Given the description of an element on the screen output the (x, y) to click on. 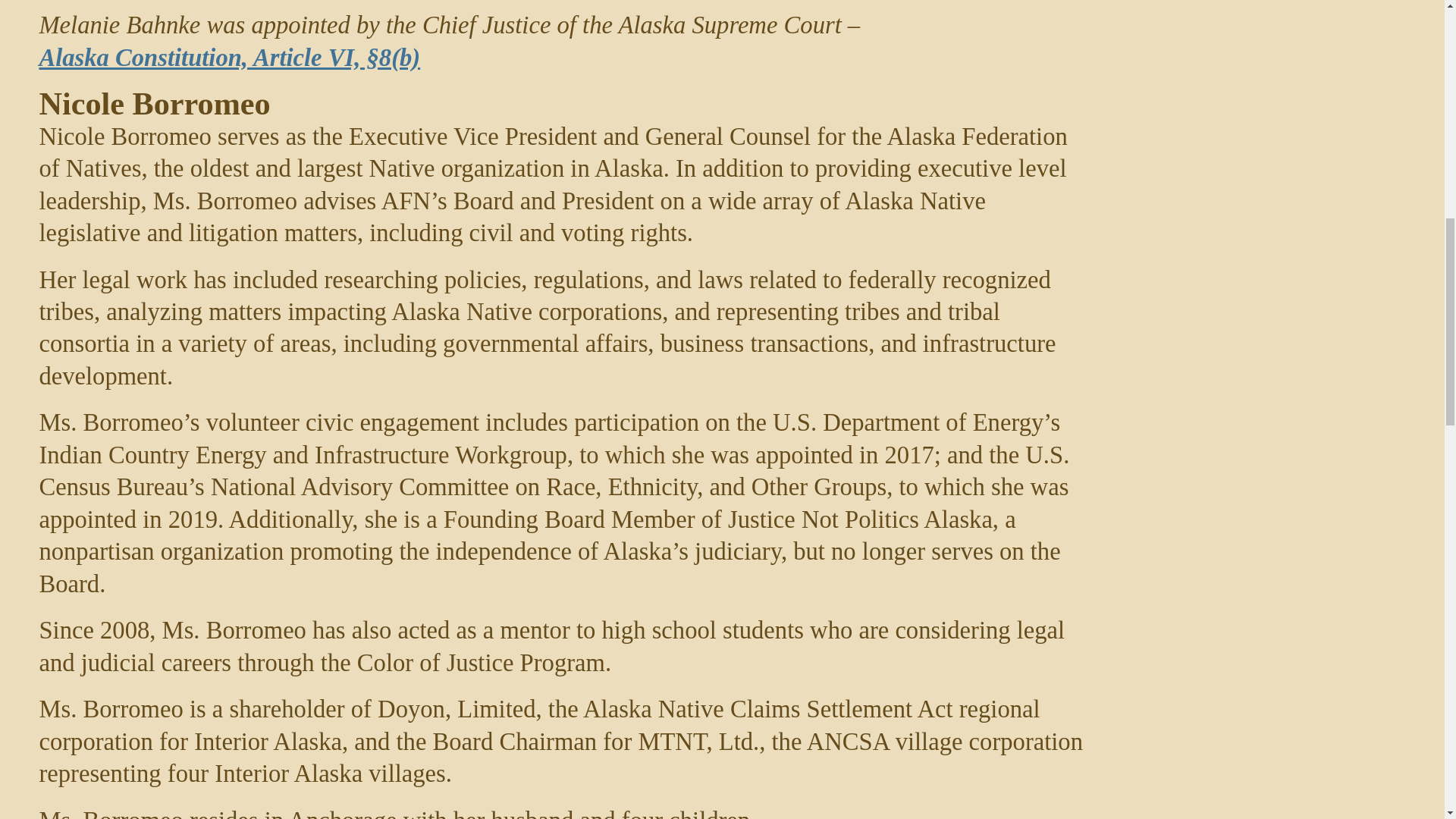
Governing Law (229, 57)
